Given the description of an element on the screen output the (x, y) to click on. 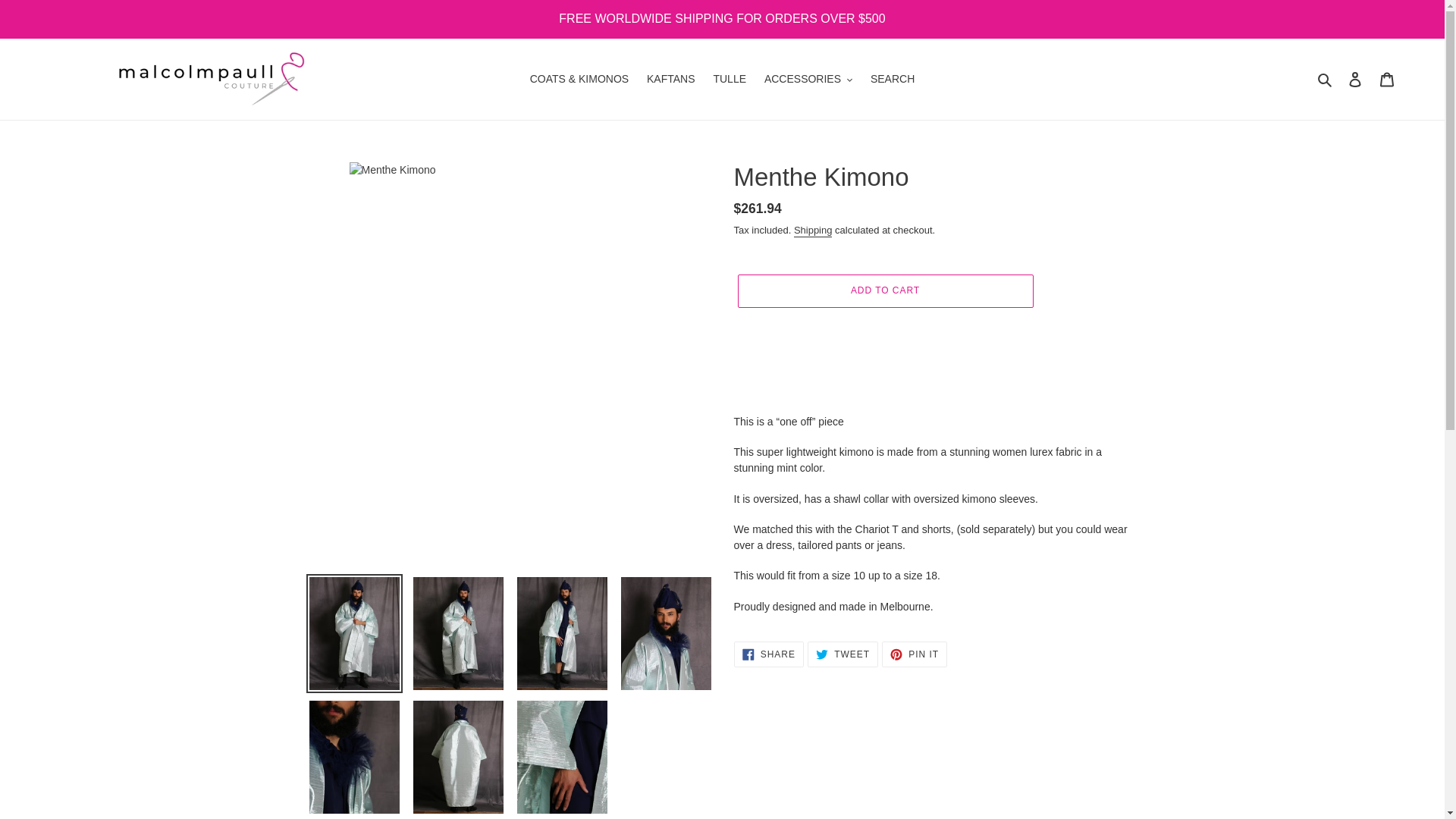
Log in (1355, 79)
Cart (1387, 79)
KAFTANS (671, 78)
TULLE (729, 78)
ACCESSORIES (808, 78)
SEARCH (892, 78)
Search (1326, 78)
